Given the description of an element on the screen output the (x, y) to click on. 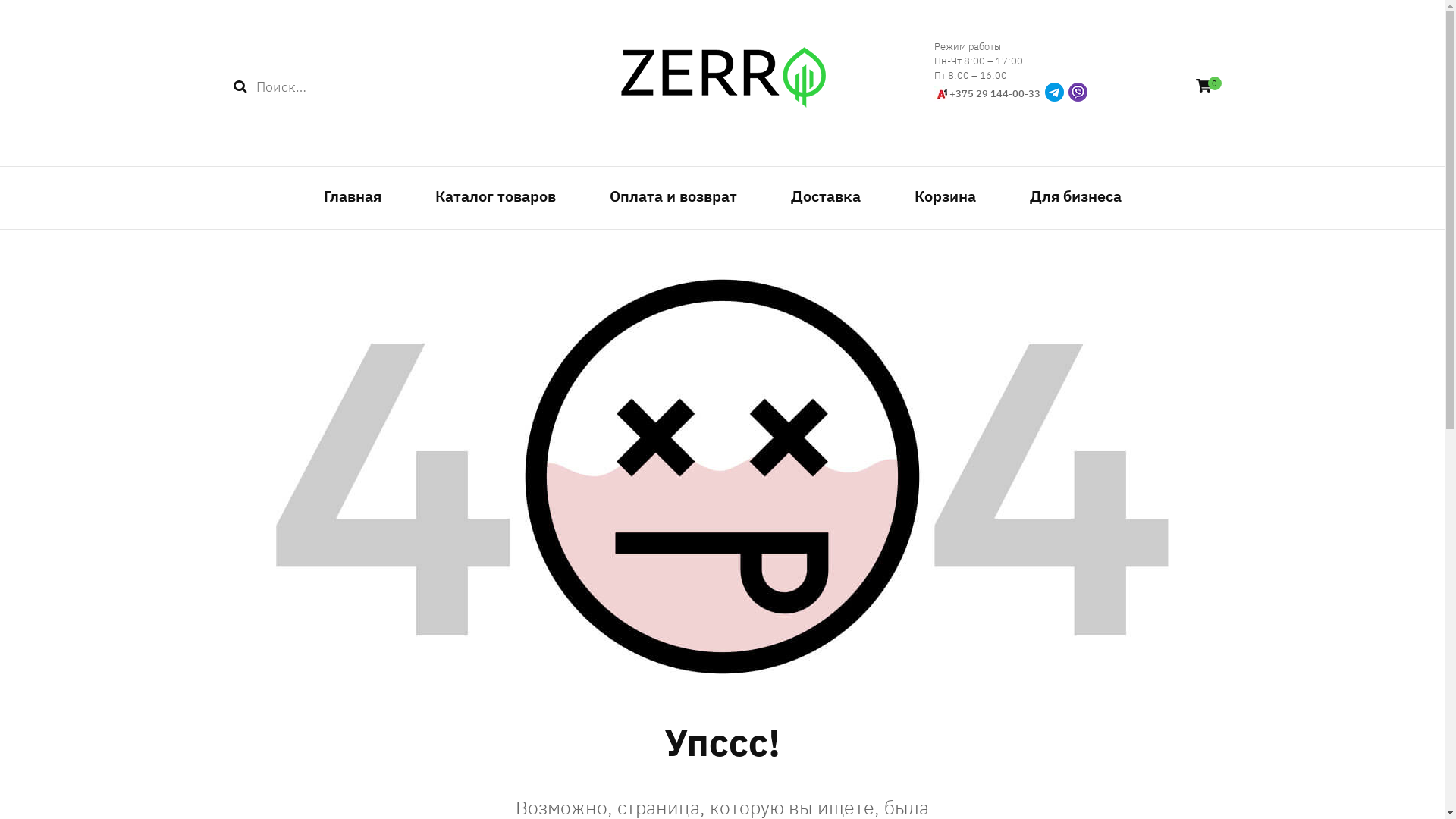
+375 29 144-00-33 Element type: text (994, 93)
0 Element type: text (1203, 85)
